Given the description of an element on the screen output the (x, y) to click on. 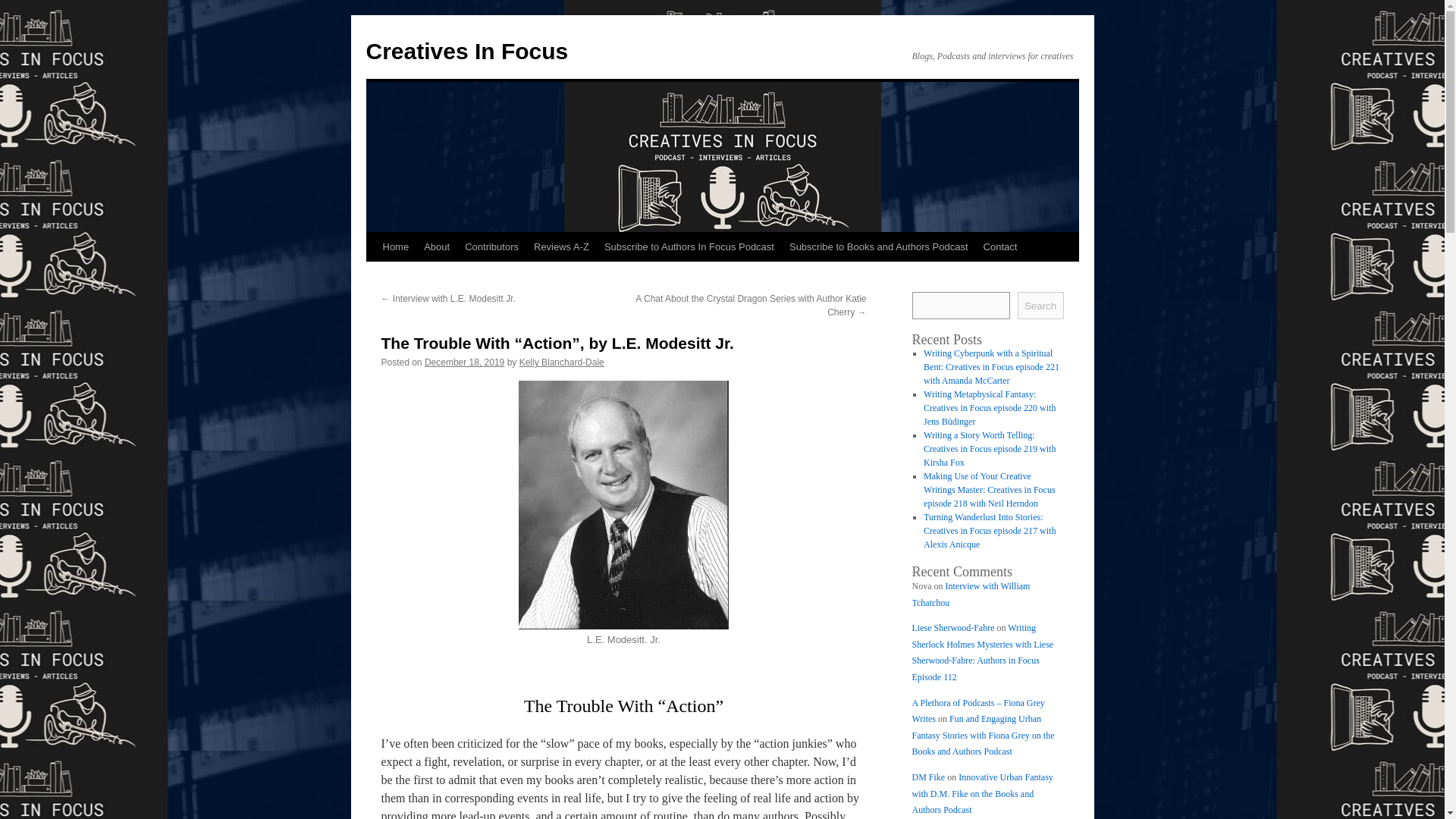
Interview with William Tchatchou (970, 594)
Search (1040, 305)
Creatives In Focus (466, 50)
Reviews A-Z (560, 246)
Kelly Blanchard-Dale (561, 362)
Home (395, 246)
December 18, 2019 (464, 362)
Contact (1000, 246)
8:15 pm (464, 362)
Subscribe to Books and Authors Podcast (878, 246)
View all posts by Kelly Blanchard-Dale (561, 362)
